Given the description of an element on the screen output the (x, y) to click on. 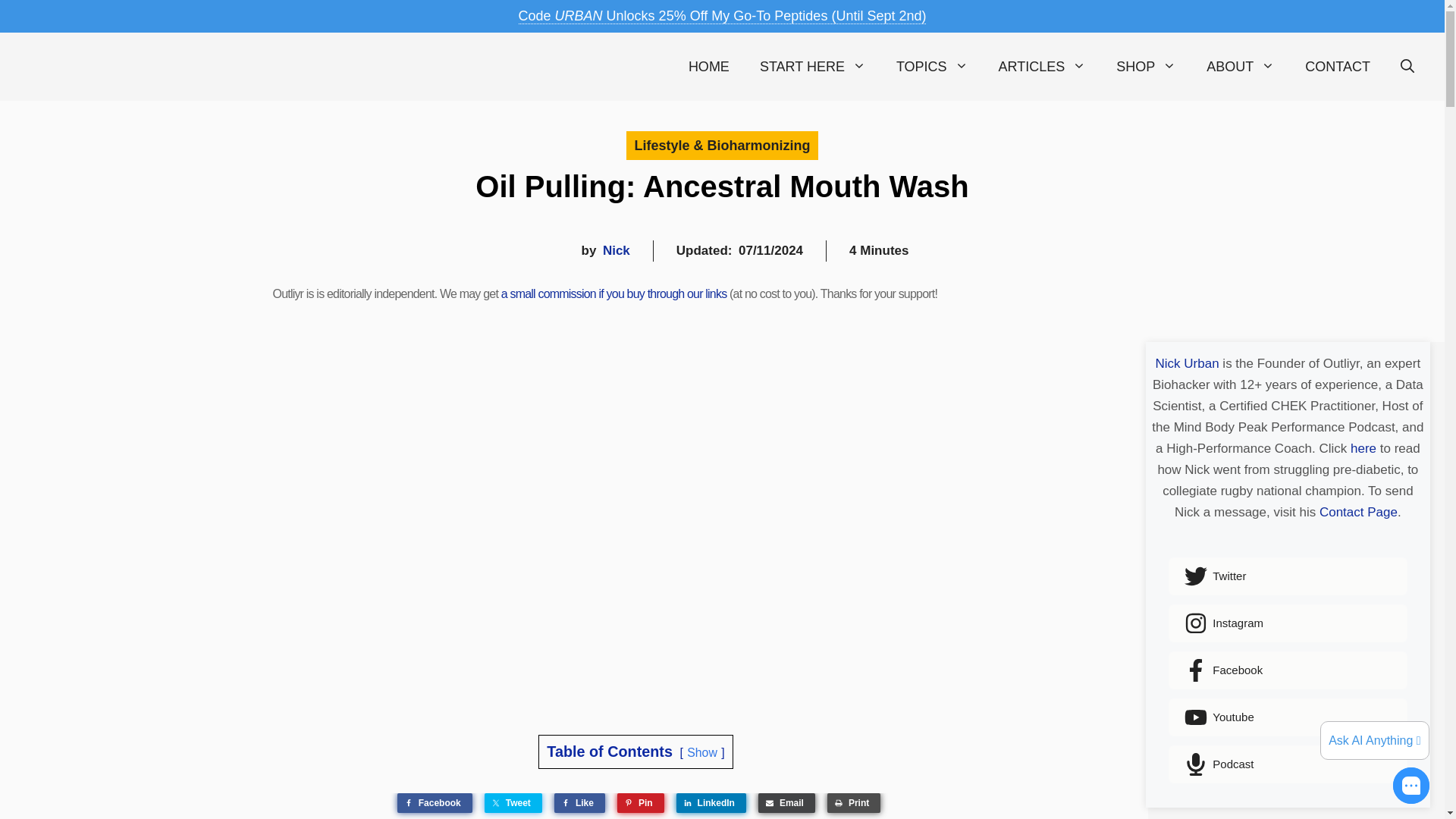
HOME (708, 66)
Share on LinkedIn (711, 803)
TOPICS (932, 66)
ABOUT (1240, 66)
ARTICLES (1043, 66)
START HERE (812, 66)
Email (786, 803)
CONTACT (1338, 66)
